Given the description of an element on the screen output the (x, y) to click on. 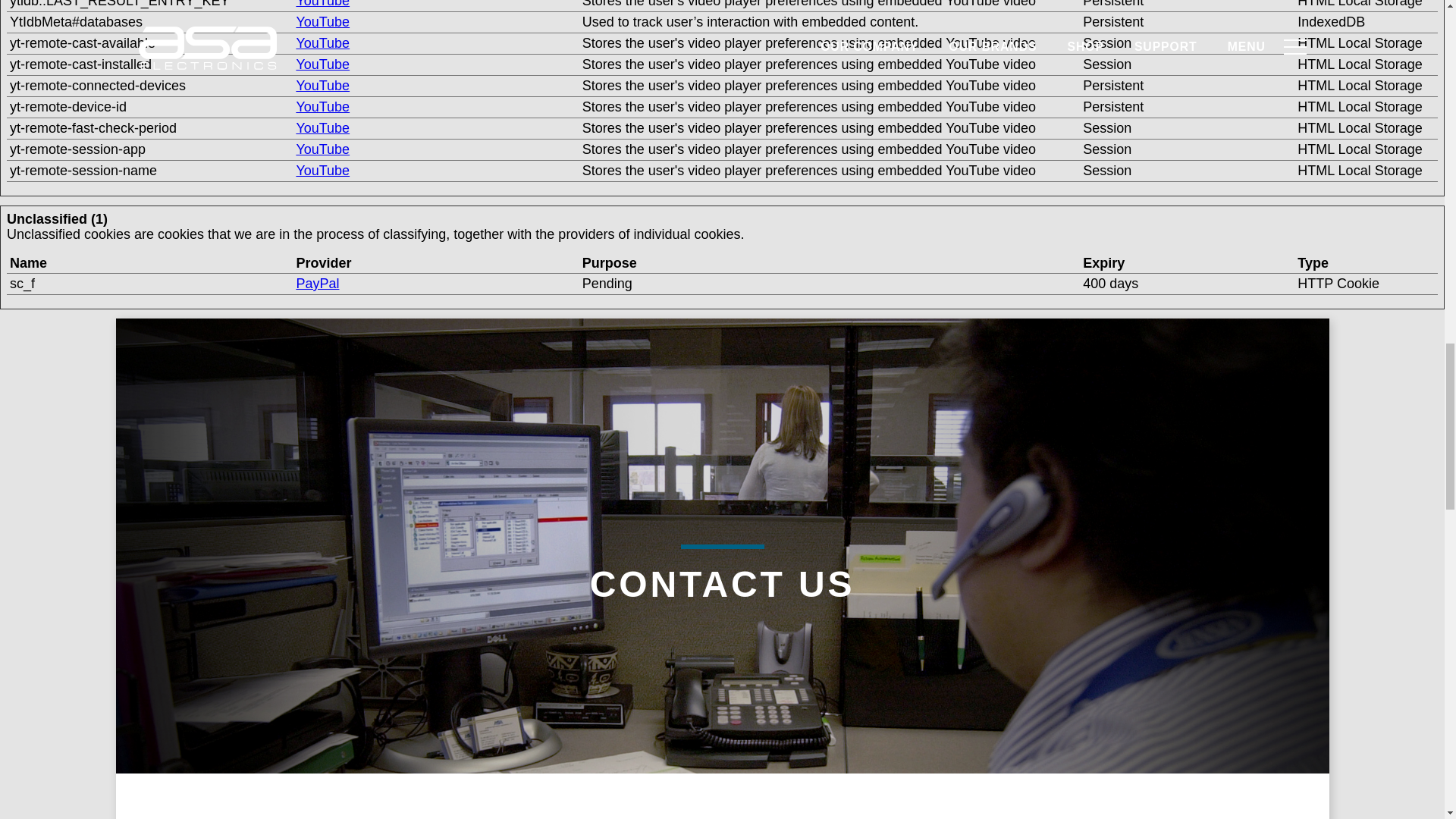
YouTube (322, 43)
YouTube (322, 127)
YouTube (322, 85)
YouTube (322, 21)
YouTube (322, 149)
YouTube (322, 64)
YouTube (322, 4)
YouTube (322, 106)
